Given the description of an element on the screen output the (x, y) to click on. 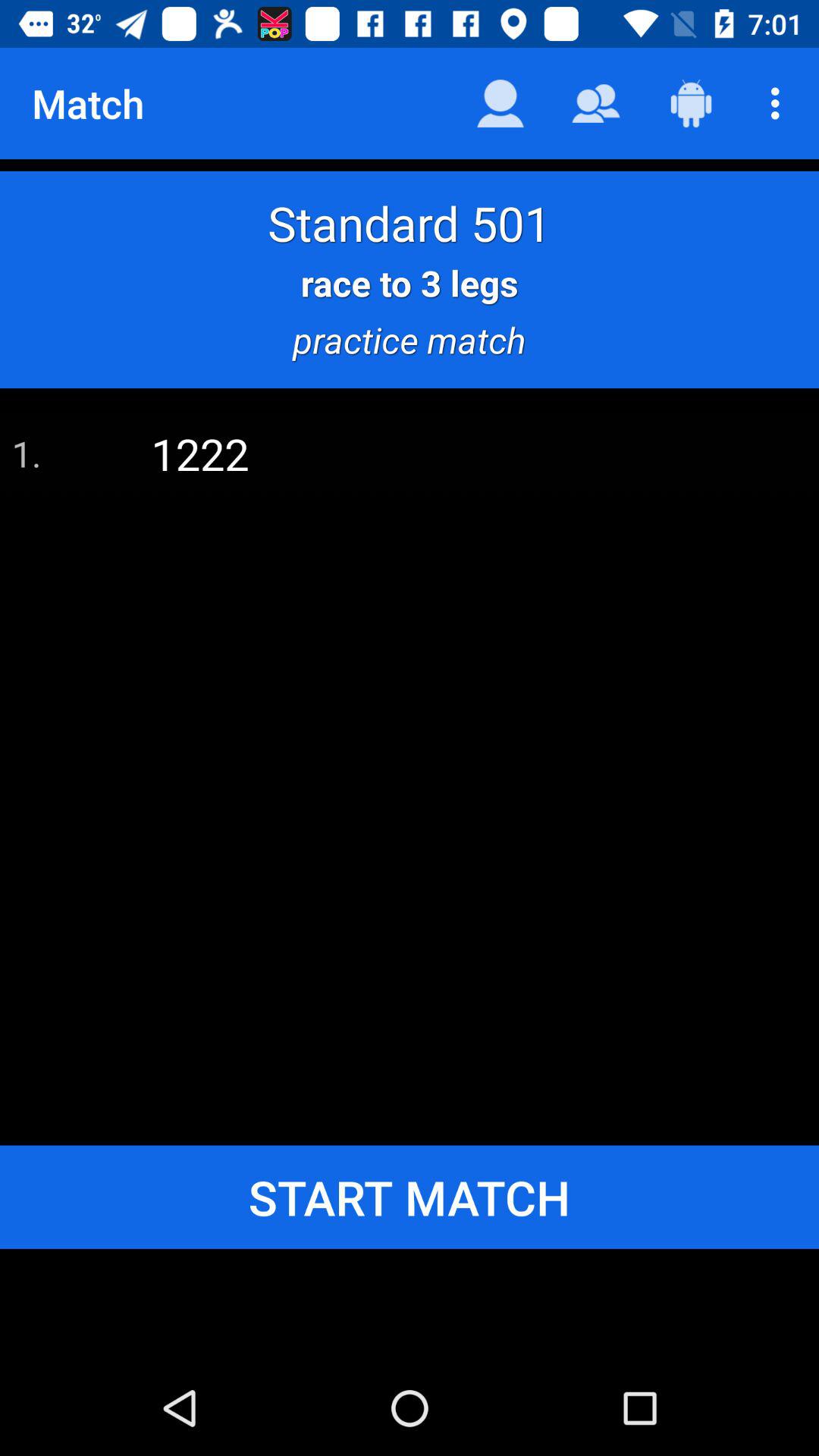
select the icon to the left of androin icon on the top of the web page (595, 103)
